Given the description of an element on the screen output the (x, y) to click on. 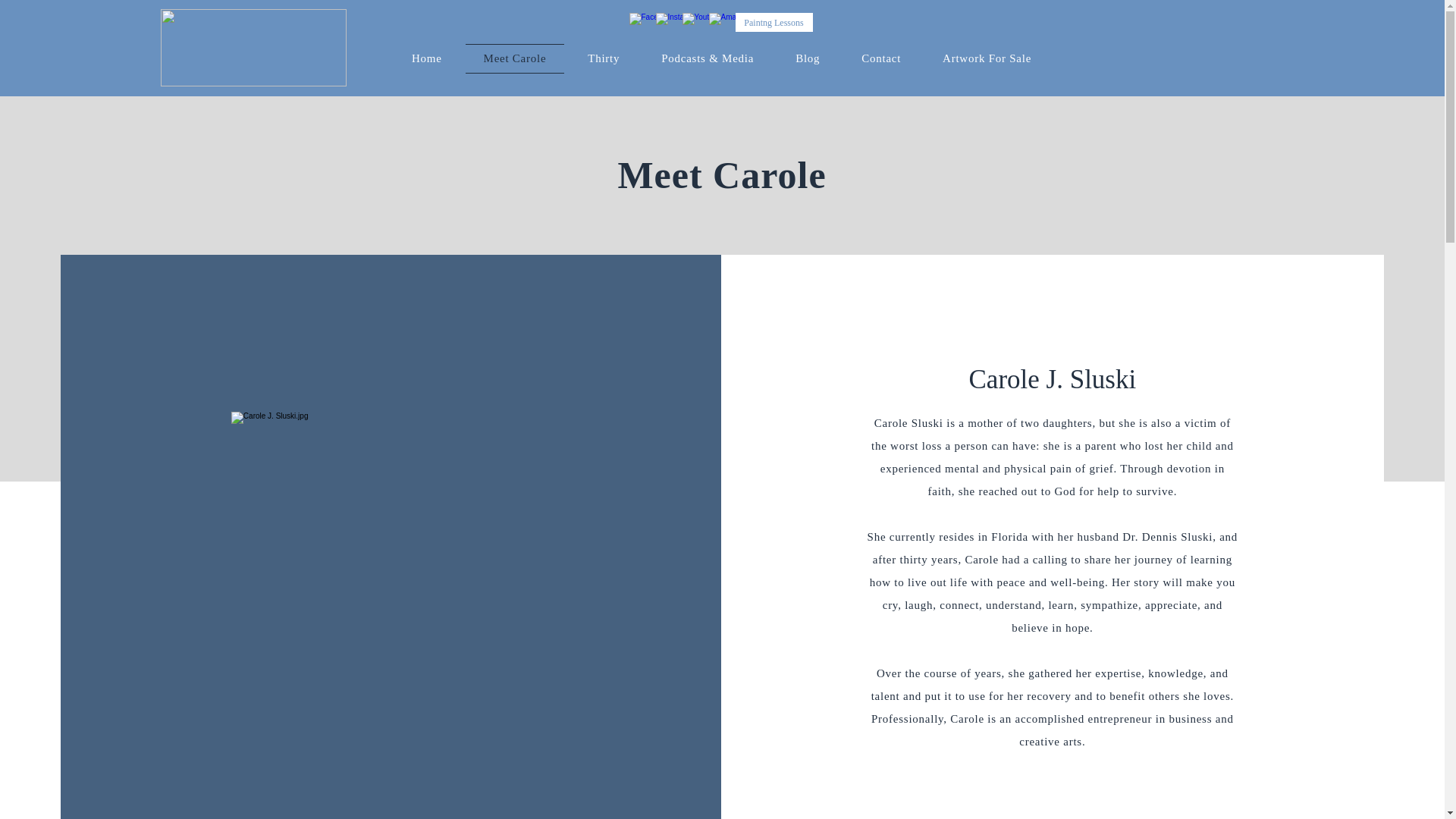
Meet Carole (514, 58)
Contact (881, 58)
Thirty (603, 58)
Carole Sluski - Blue.png (253, 47)
Paintng Lessons (773, 22)
Artwork For Sale (986, 58)
Blog (807, 58)
Home (427, 58)
